Given the description of an element on the screen output the (x, y) to click on. 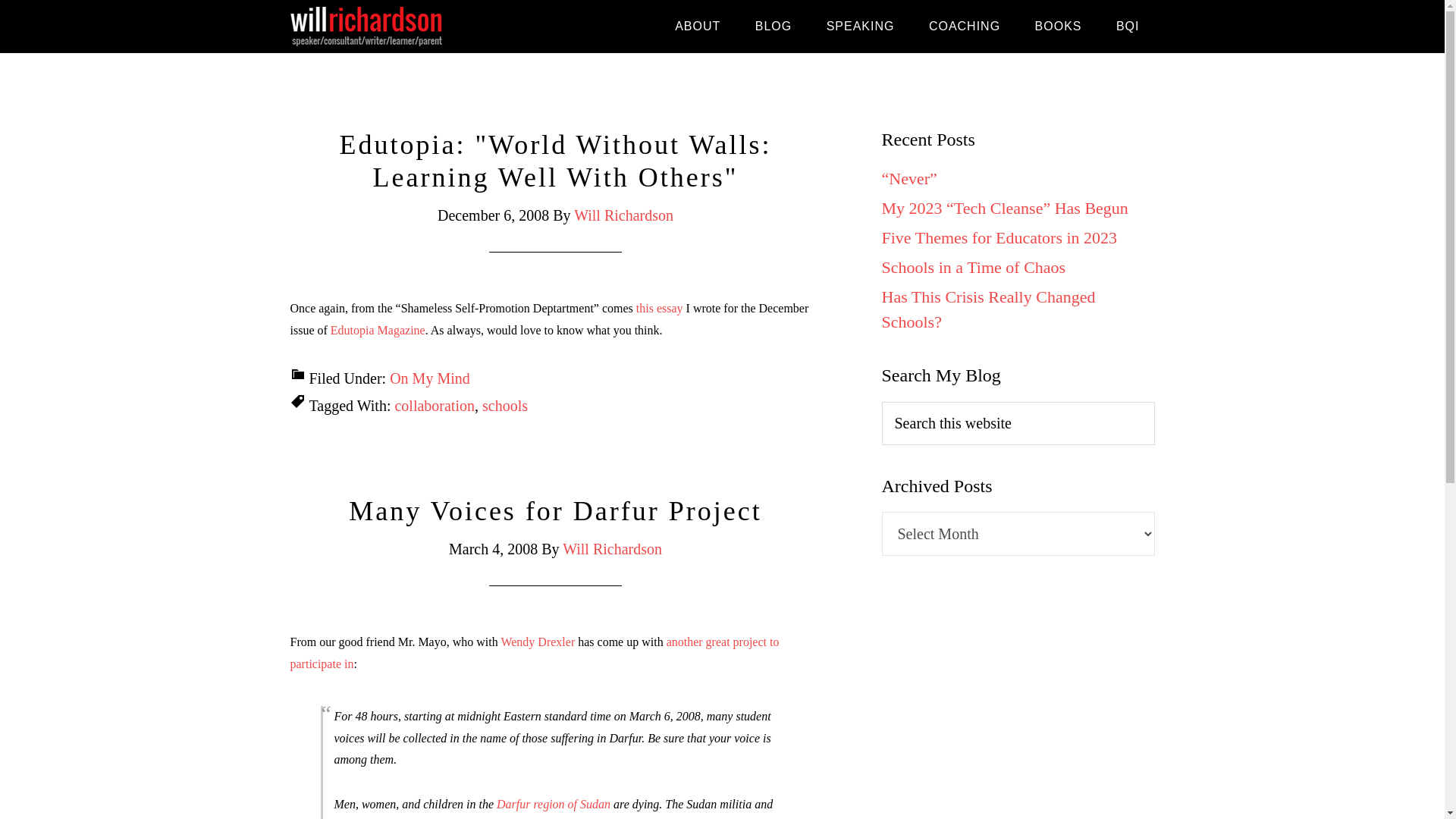
Schools in a Time of Chaos (972, 266)
BOOKS (1058, 26)
Wendy Drexler (537, 641)
Edutopia Magazine (377, 329)
Has This Crisis Really Changed Schools? (987, 309)
COACHING (964, 26)
Will Richardson (612, 548)
collaboration (434, 405)
